Given the description of an element on the screen output the (x, y) to click on. 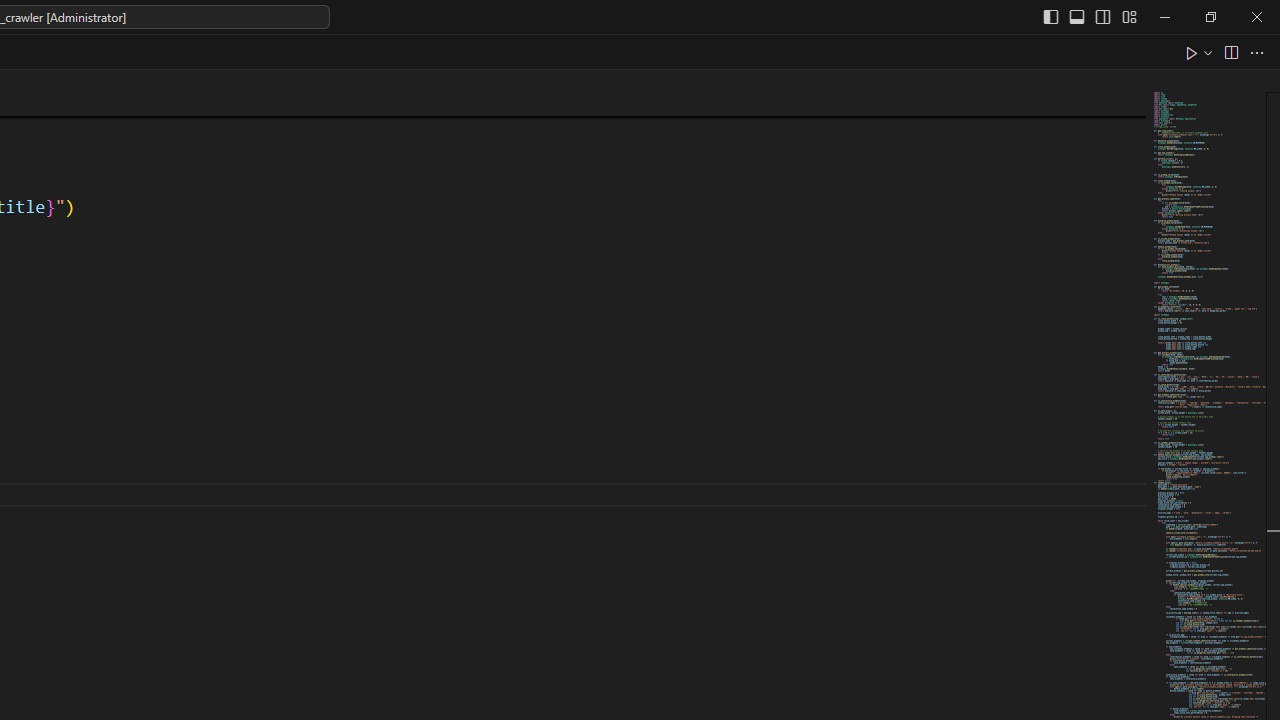
More Actions... (1256, 52)
Editor actions (1226, 52)
Customize Layout... (1128, 16)
Run or Debug... (1208, 52)
Toggle Secondary Side Bar (Ctrl+Alt+B) (1102, 16)
Split Editor Right (Ctrl+\) [Alt] Split Editor Down (1230, 52)
Title actions (1089, 16)
Run Python File (1192, 52)
Toggle Panel (Ctrl+J) (1077, 16)
Toggle Primary Side Bar (Ctrl+B) (1050, 16)
